Given the description of an element on the screen output the (x, y) to click on. 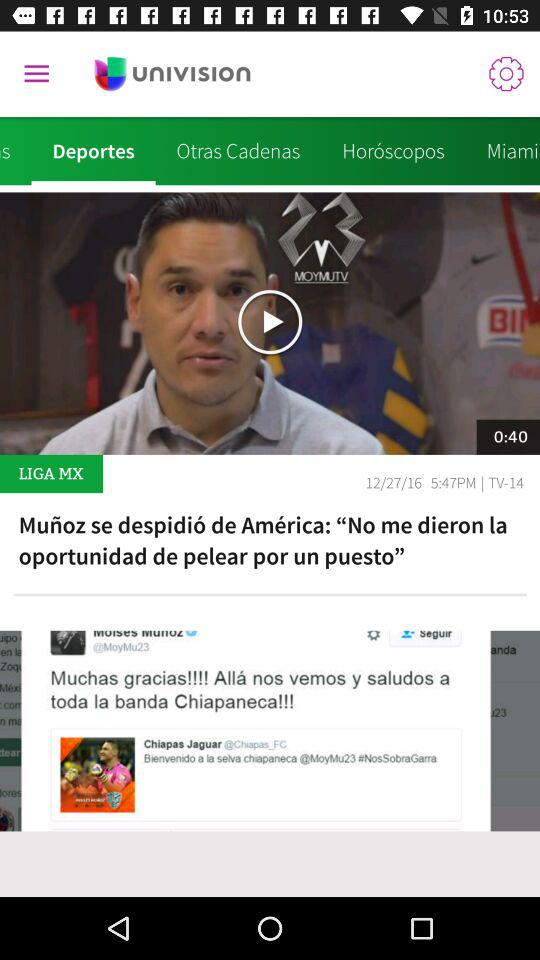
name of company (172, 73)
